Given the description of an element on the screen output the (x, y) to click on. 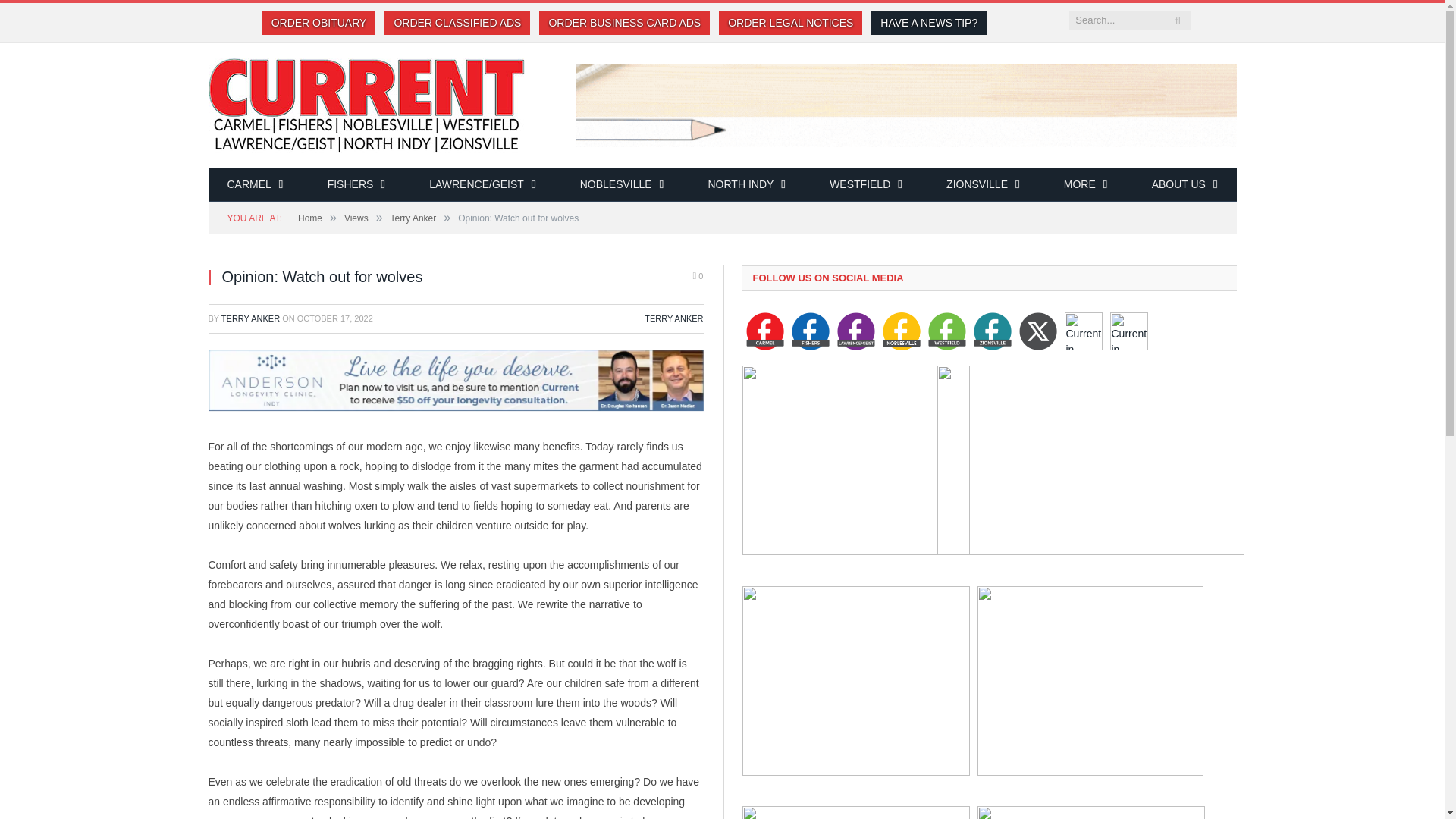
HAVE A NEWS TIP? (928, 22)
NOBLESVILLE (621, 185)
Current in Westfield Facebook (947, 331)
ORDER LEGAL NOTICES (790, 22)
Current in Carmel Twitter (1038, 331)
Posts by Terry Anker (250, 317)
2022-10-17 (334, 317)
ORDER BUSINESS CARD ADS (624, 22)
Current in Noblesville Facebook (901, 331)
ORDER CLASSIFIED ADS (456, 22)
